Given the description of an element on the screen output the (x, y) to click on. 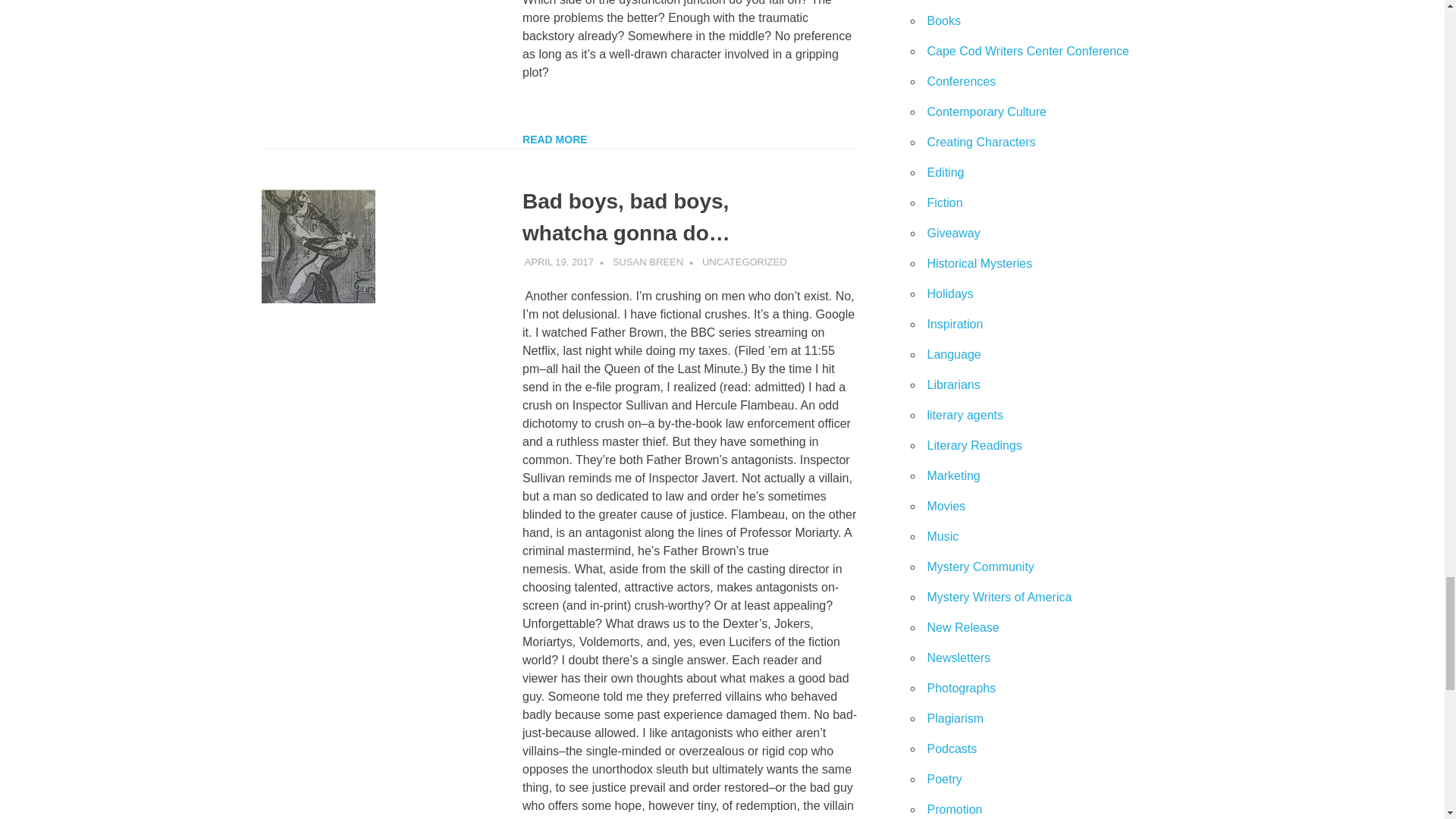
APRIL 19, 2017 (559, 261)
View all posts by Susan Breen (647, 261)
READ MORE (555, 139)
SUSAN BREEN (647, 261)
6:58 pm (559, 261)
